Given the description of an element on the screen output the (x, y) to click on. 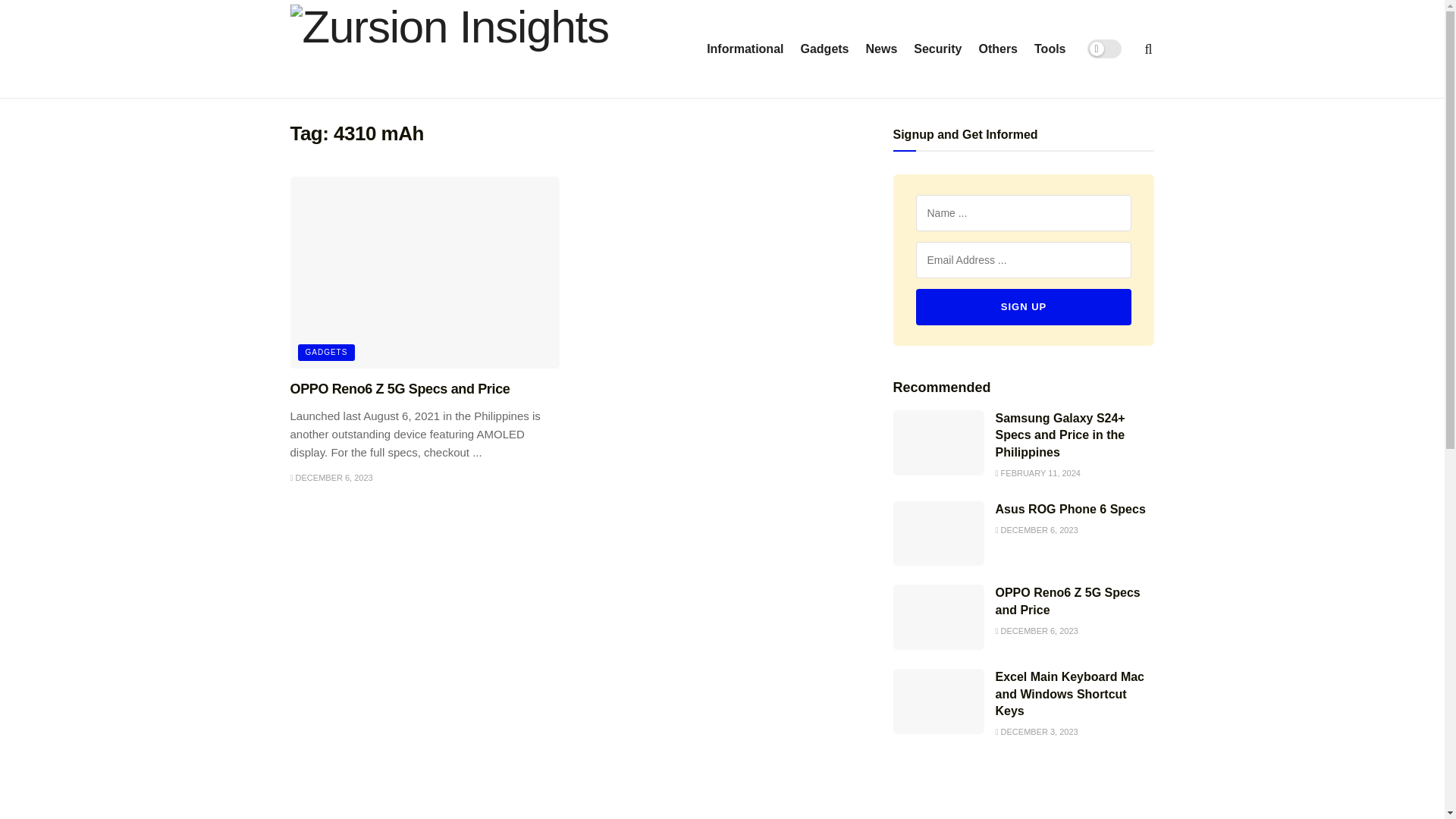
DECEMBER 6, 2023 (1035, 529)
DECEMBER 3, 2023 (1035, 731)
GADGETS (326, 352)
Security (937, 48)
Informational (744, 48)
Asus ROG Phone 6 Specs (1069, 508)
Sign up (1023, 307)
Sign up (1023, 307)
Gadgets (823, 48)
OPPO Reno6 Z 5G Specs and Price (1067, 600)
FEBRUARY 11, 2024 (1037, 472)
DECEMBER 6, 2023 (330, 477)
Others (997, 48)
DECEMBER 6, 2023 (1035, 630)
OPPO Reno6 Z 5G Specs and Price (399, 388)
